Given the description of an element on the screen output the (x, y) to click on. 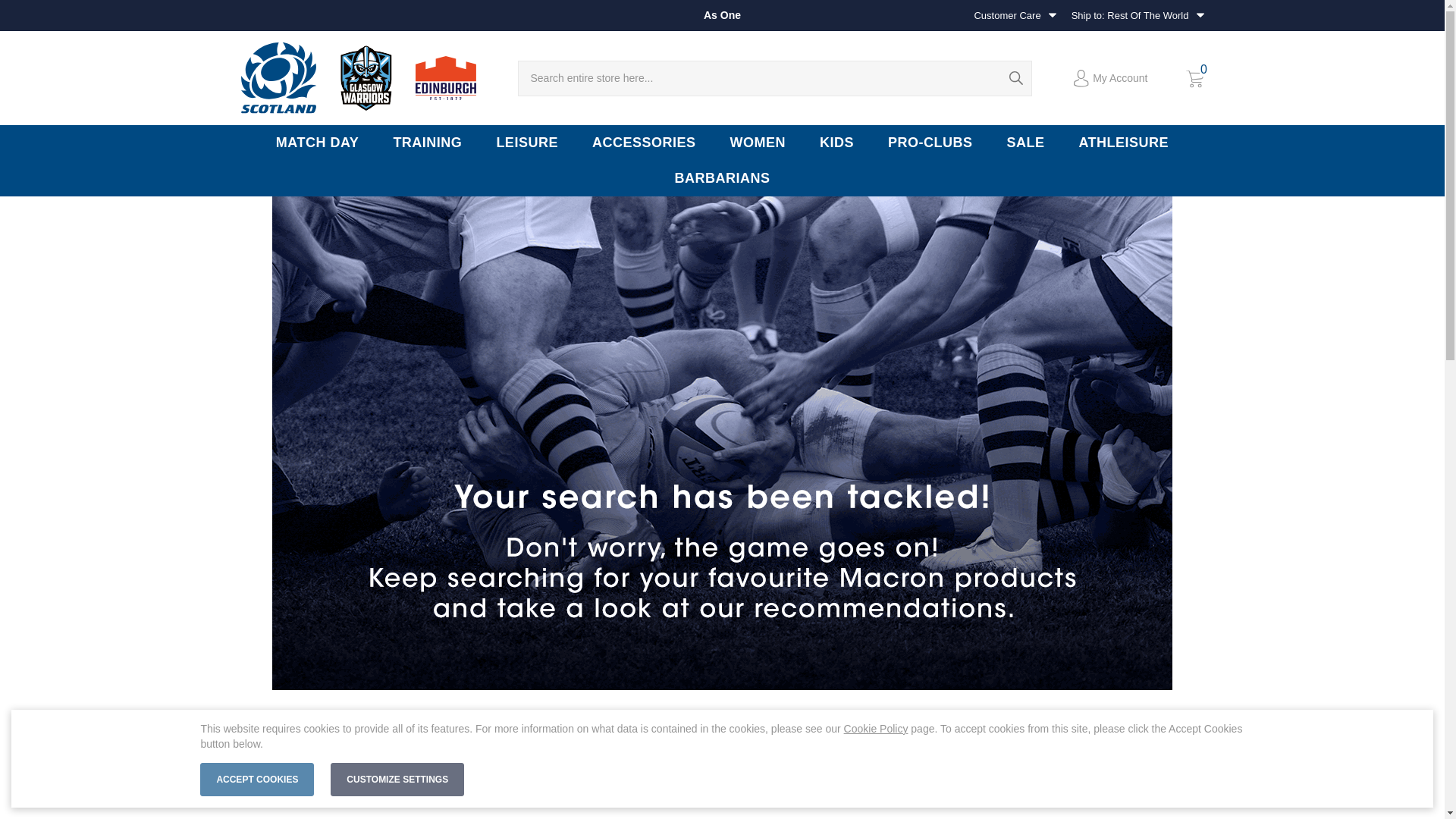
Search (1016, 78)
Ship to: Rest Of The World (1137, 15)
Edinburgh Rugby (445, 78)
Customer Care (1014, 15)
